Given the description of an element on the screen output the (x, y) to click on. 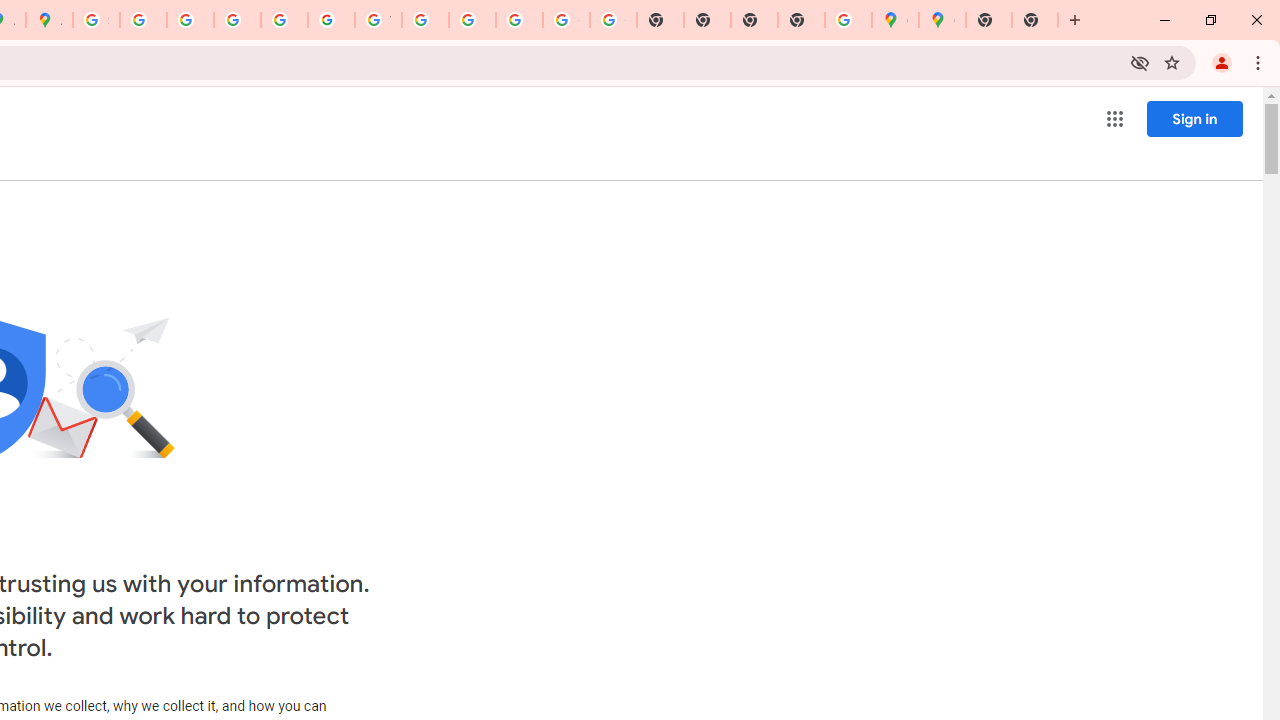
New Tab (989, 20)
New Tab (1035, 20)
Sign in - Google Accounts (96, 20)
YouTube (377, 20)
Use Google Maps in Space - Google Maps Help (848, 20)
